Given the description of an element on the screen output the (x, y) to click on. 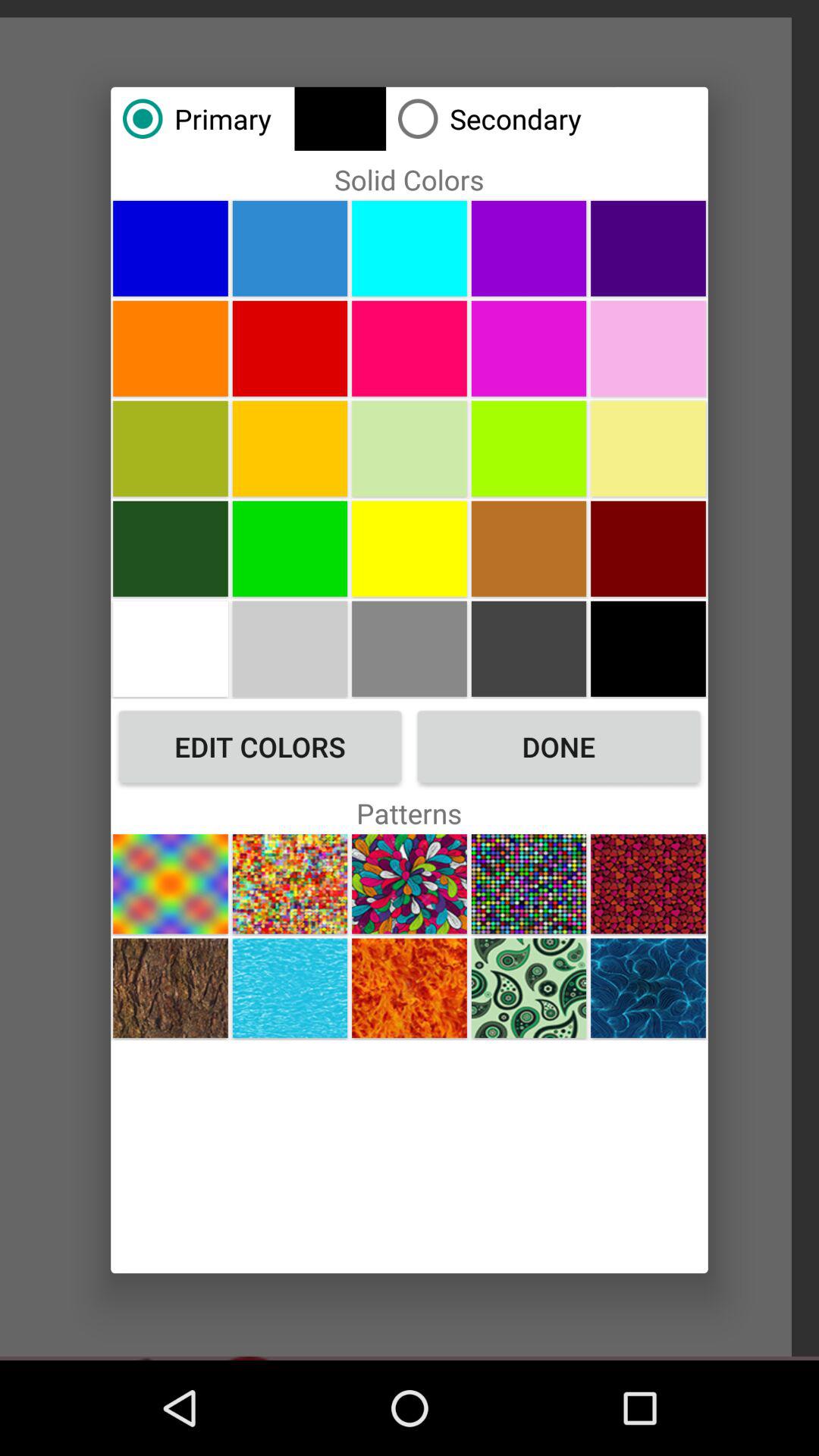
select color cyan (409, 248)
